Given the description of an element on the screen output the (x, y) to click on. 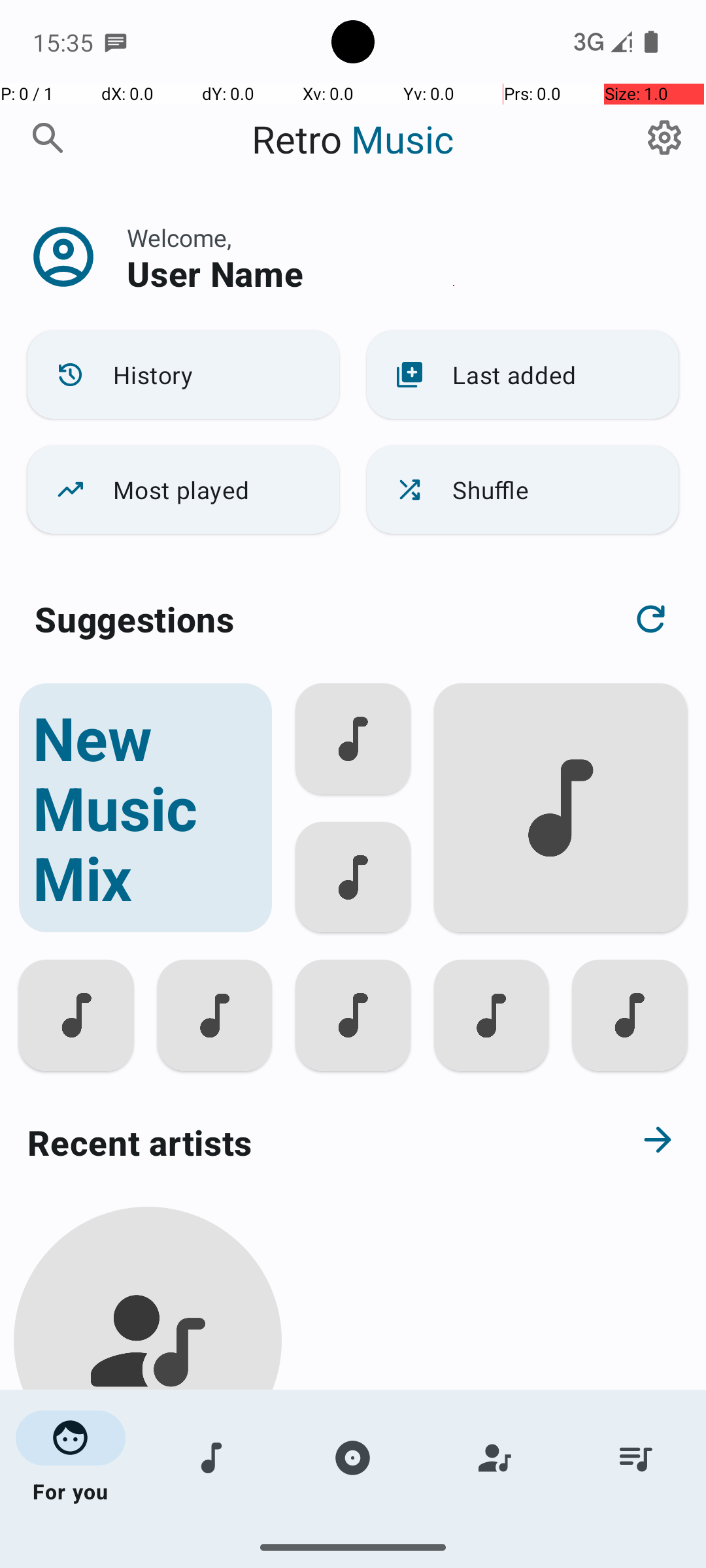
Thomas Element type: android.widget.TextView (147, 1503)
